Given the description of an element on the screen output the (x, y) to click on. 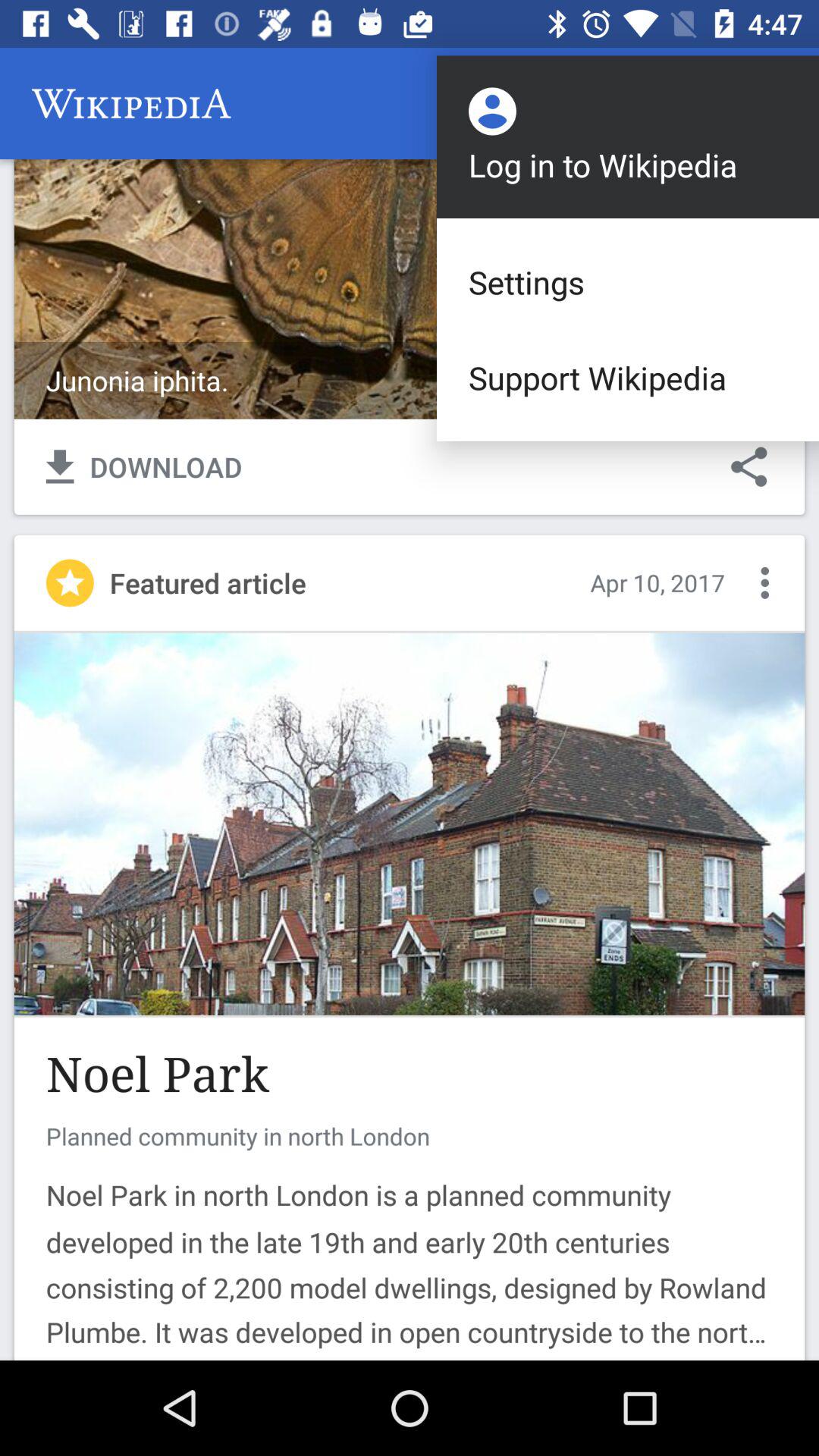
click the icon above the support wikipedia icon (627, 281)
